Given the description of an element on the screen output the (x, y) to click on. 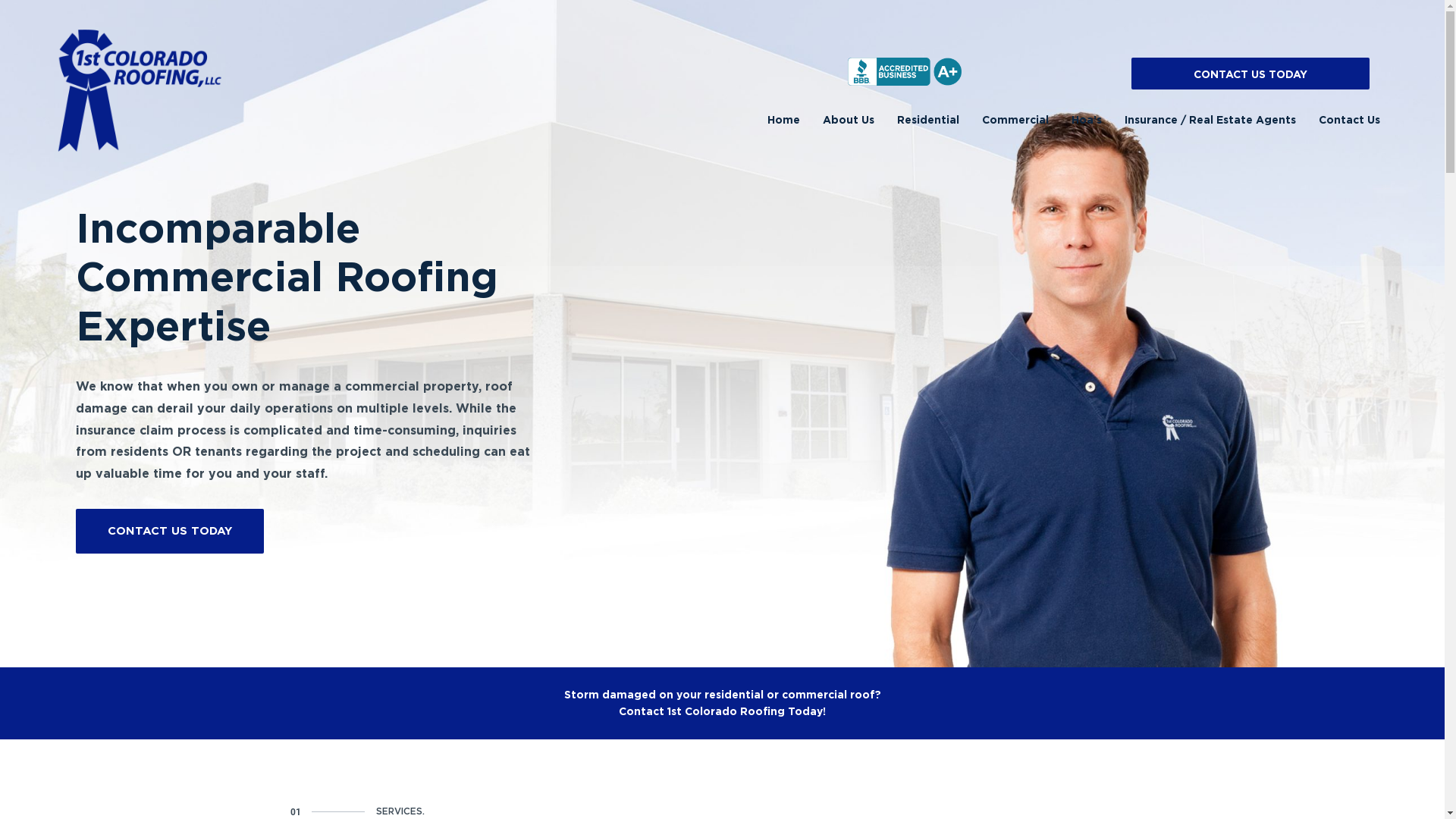
CONTACT US TODAY Element type: text (1250, 73)
CONTACT US TODAY Element type: text (169, 530)
Commercial Element type: text (1015, 119)
Contact Us Element type: text (1349, 119)
Residential Element type: text (927, 119)
About Us Element type: text (848, 119)
Home Element type: text (783, 119)
Insurance / Real Estate Agents Element type: text (1210, 119)
